Given the description of an element on the screen output the (x, y) to click on. 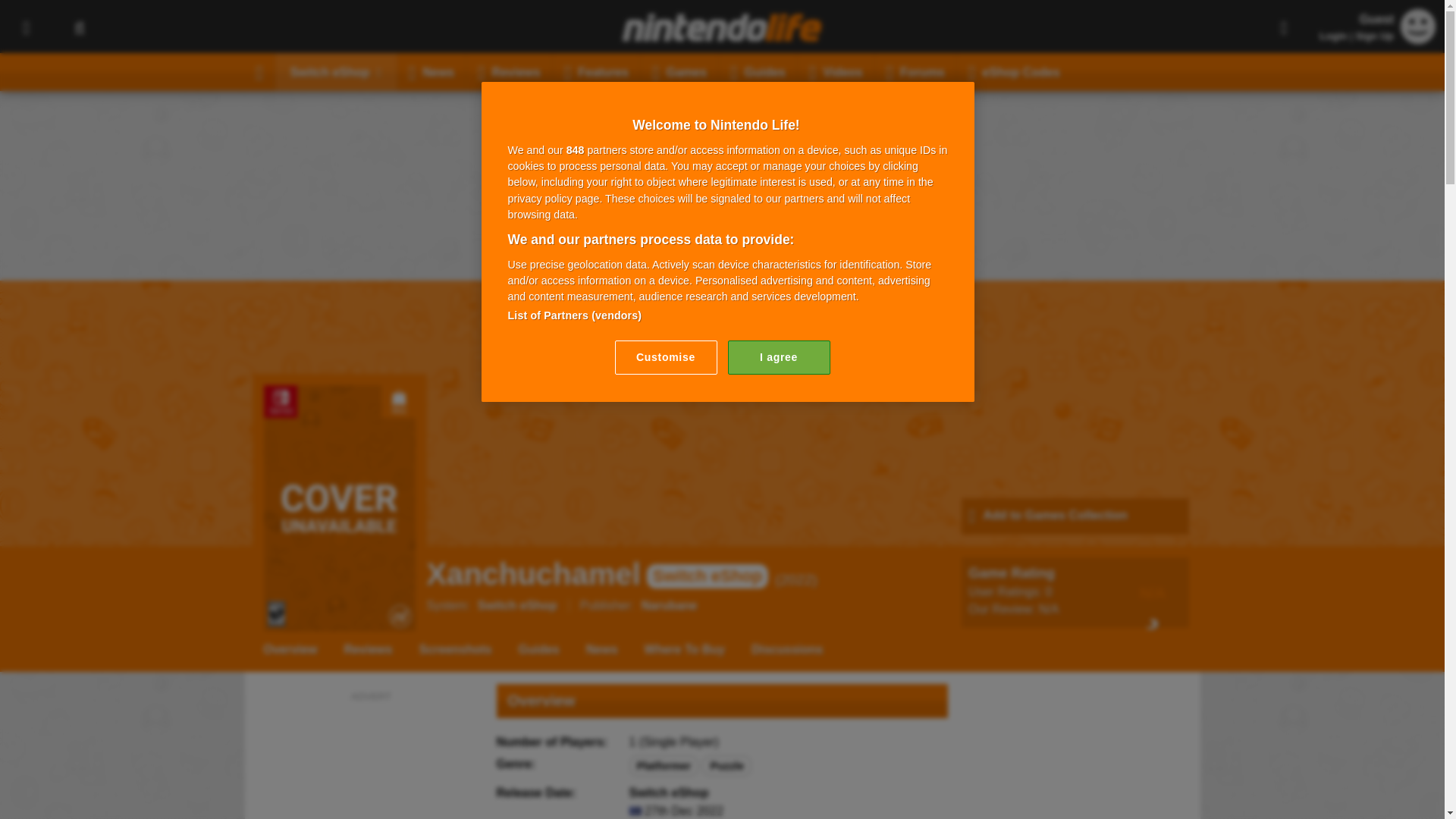
Guides (758, 71)
News (431, 71)
eShop Codes (1013, 71)
Videos (836, 71)
Guest (1417, 39)
Guest (1417, 26)
Nintendo Life (721, 27)
Forums (915, 71)
Search (79, 26)
Switch eShop (336, 71)
